Given the description of an element on the screen output the (x, y) to click on. 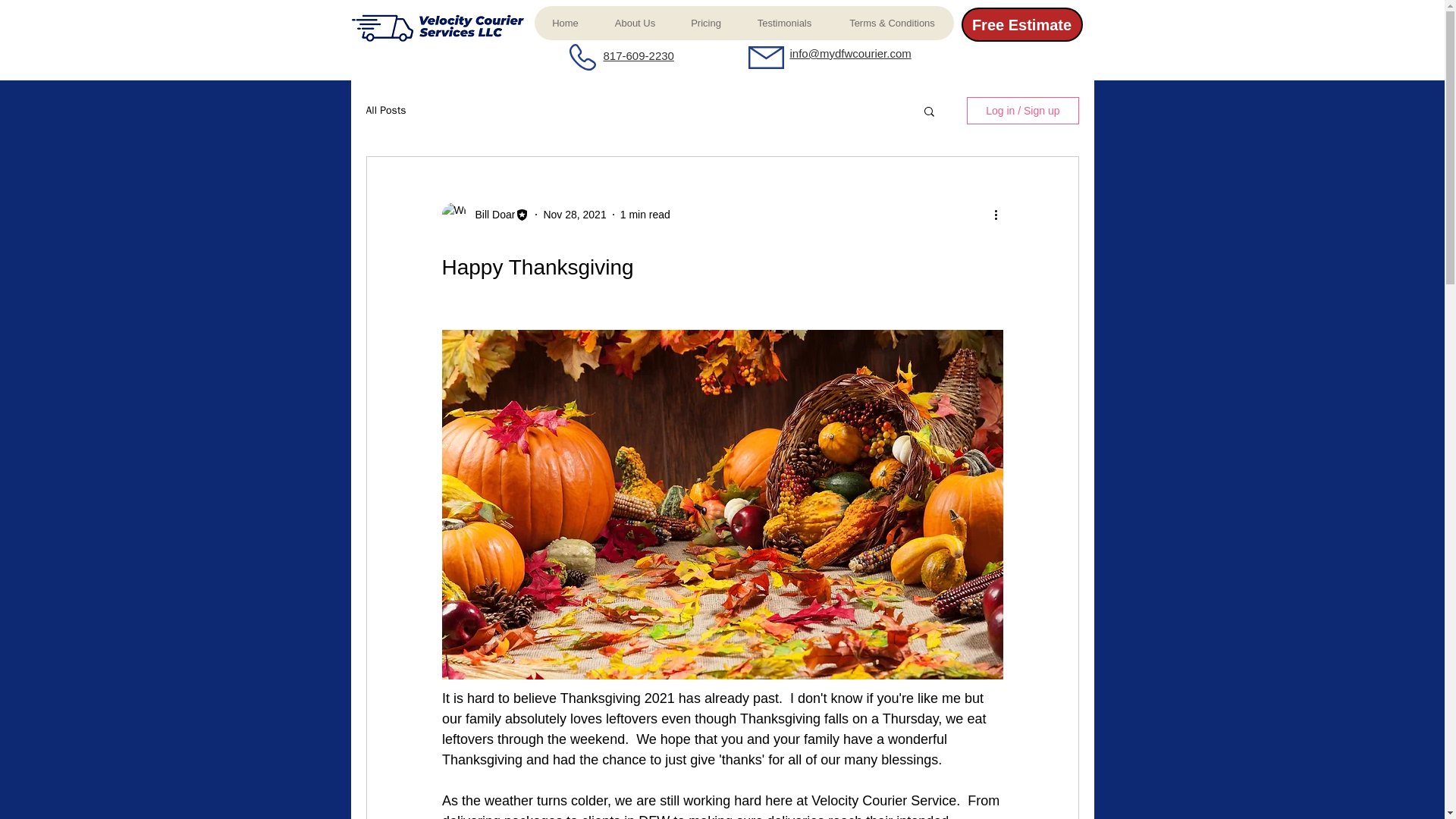
817-609-2230 (639, 55)
Free Estimate (1021, 24)
Pricing (705, 22)
Testimonials (783, 22)
Bill Doar (490, 213)
Nov 28, 2021 (574, 214)
Home (564, 22)
All Posts (385, 110)
1 min read (644, 214)
